Given the description of an element on the screen output the (x, y) to click on. 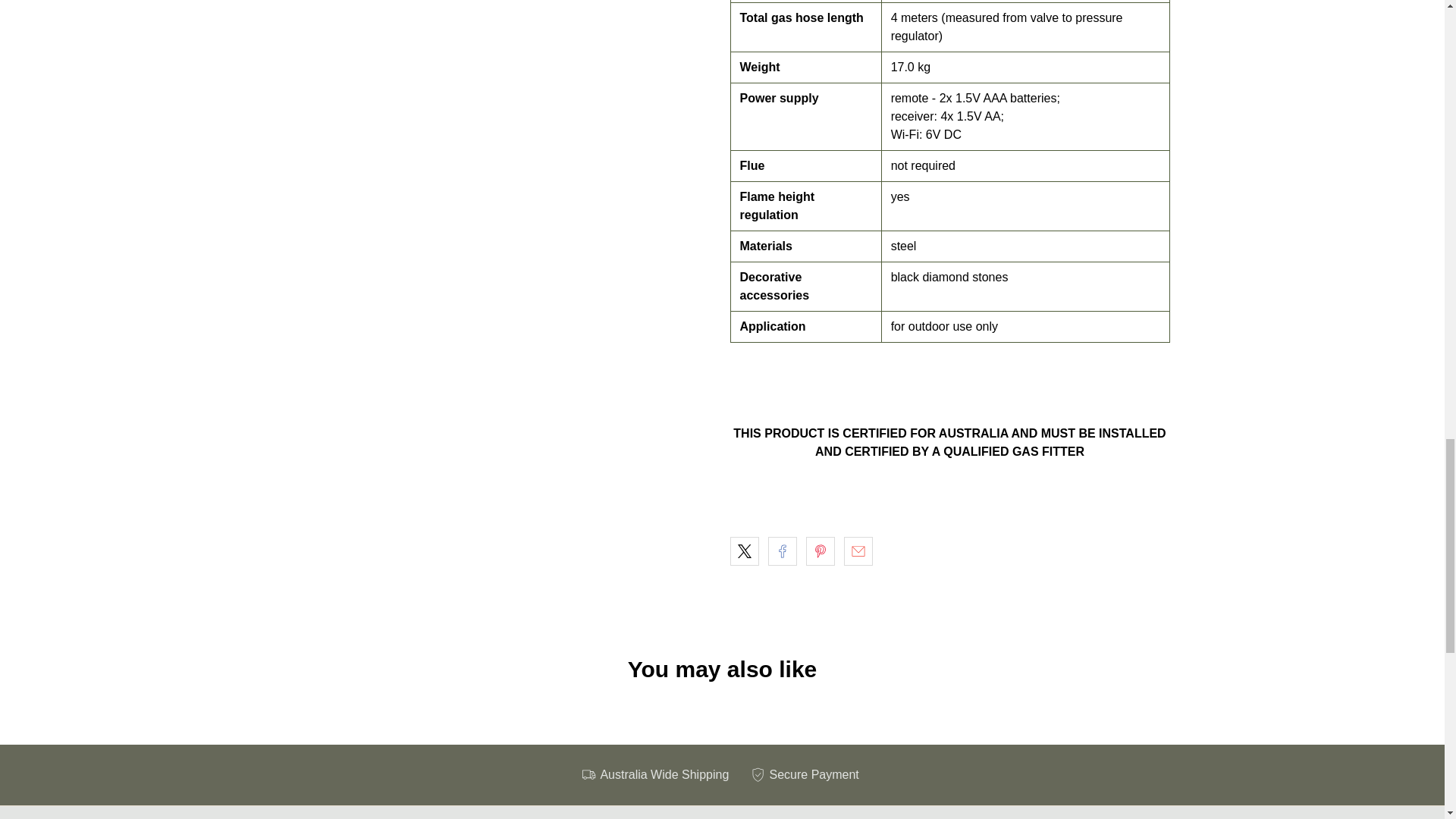
Share this on Pinterest (819, 551)
Share this on X (743, 551)
Email this to a friend (857, 551)
Share this on Facebook (781, 551)
